Given the description of an element on the screen output the (x, y) to click on. 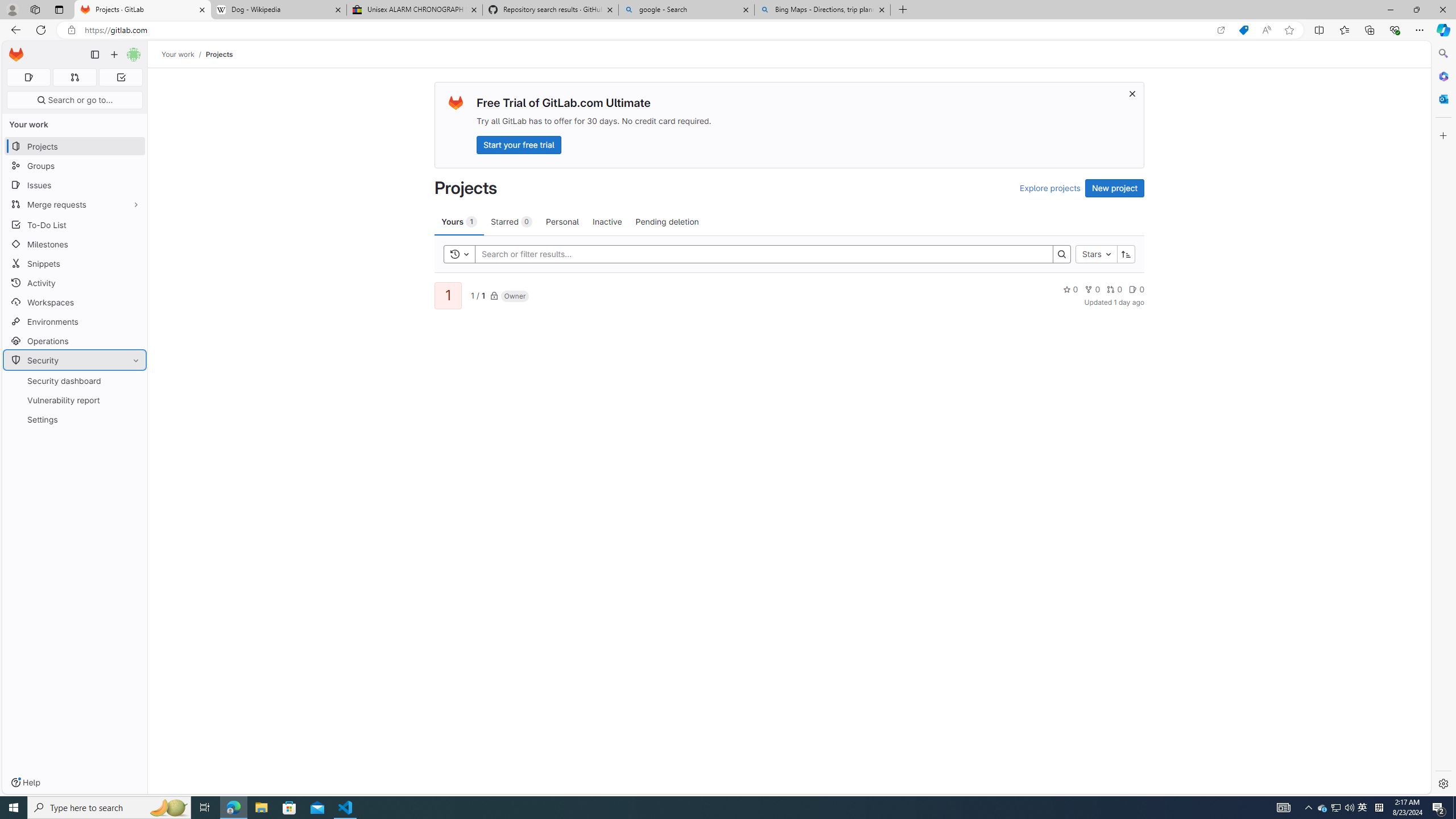
Your work/ (183, 53)
Toggle history (460, 253)
Vulnerability report (74, 399)
Merge requests 0 (74, 76)
Operations (74, 340)
Personal (561, 221)
Stars (1096, 253)
Snippets (74, 262)
